Given the description of an element on the screen output the (x, y) to click on. 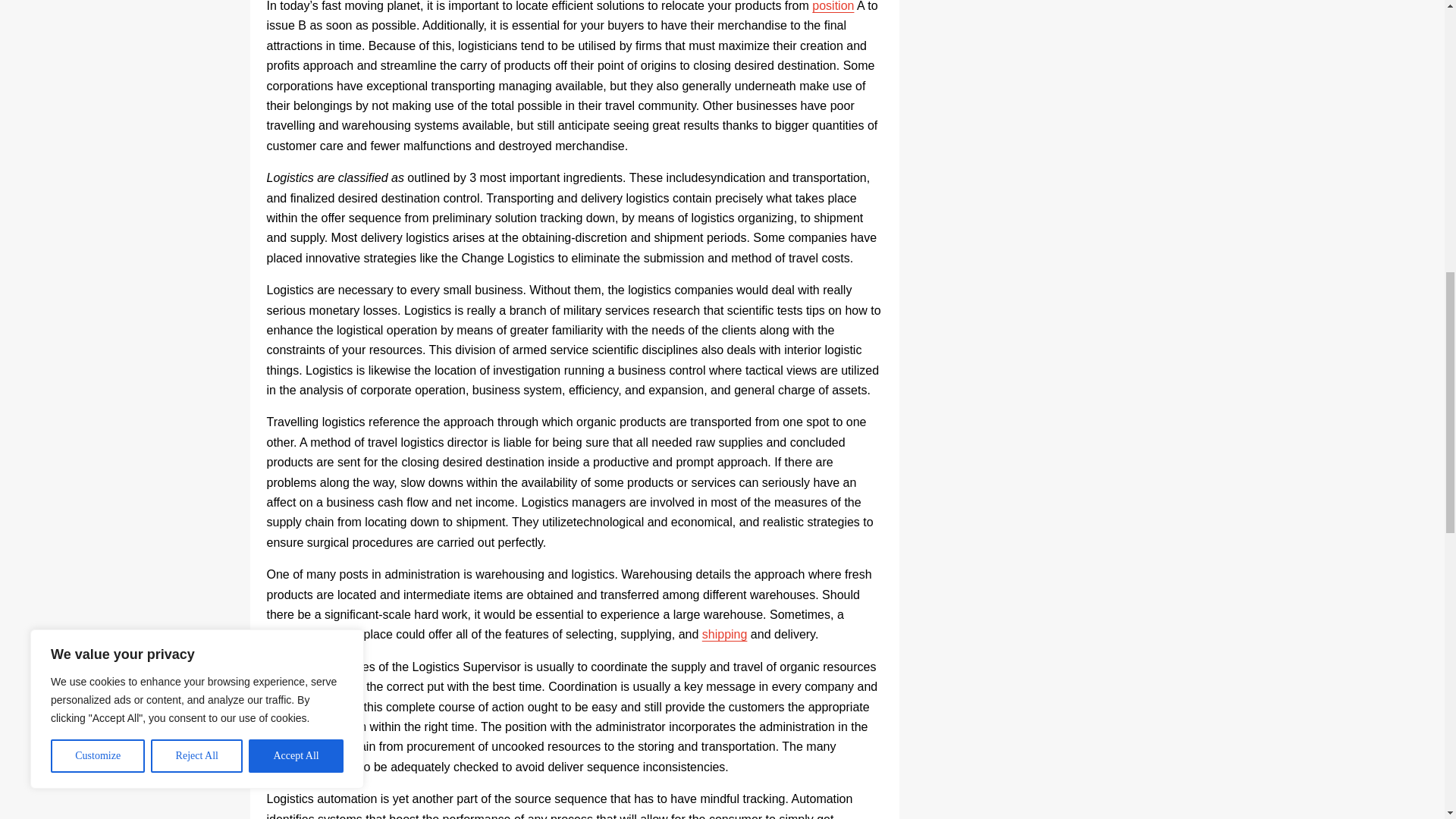
shipping (724, 634)
position (832, 6)
